Given the description of an element on the screen output the (x, y) to click on. 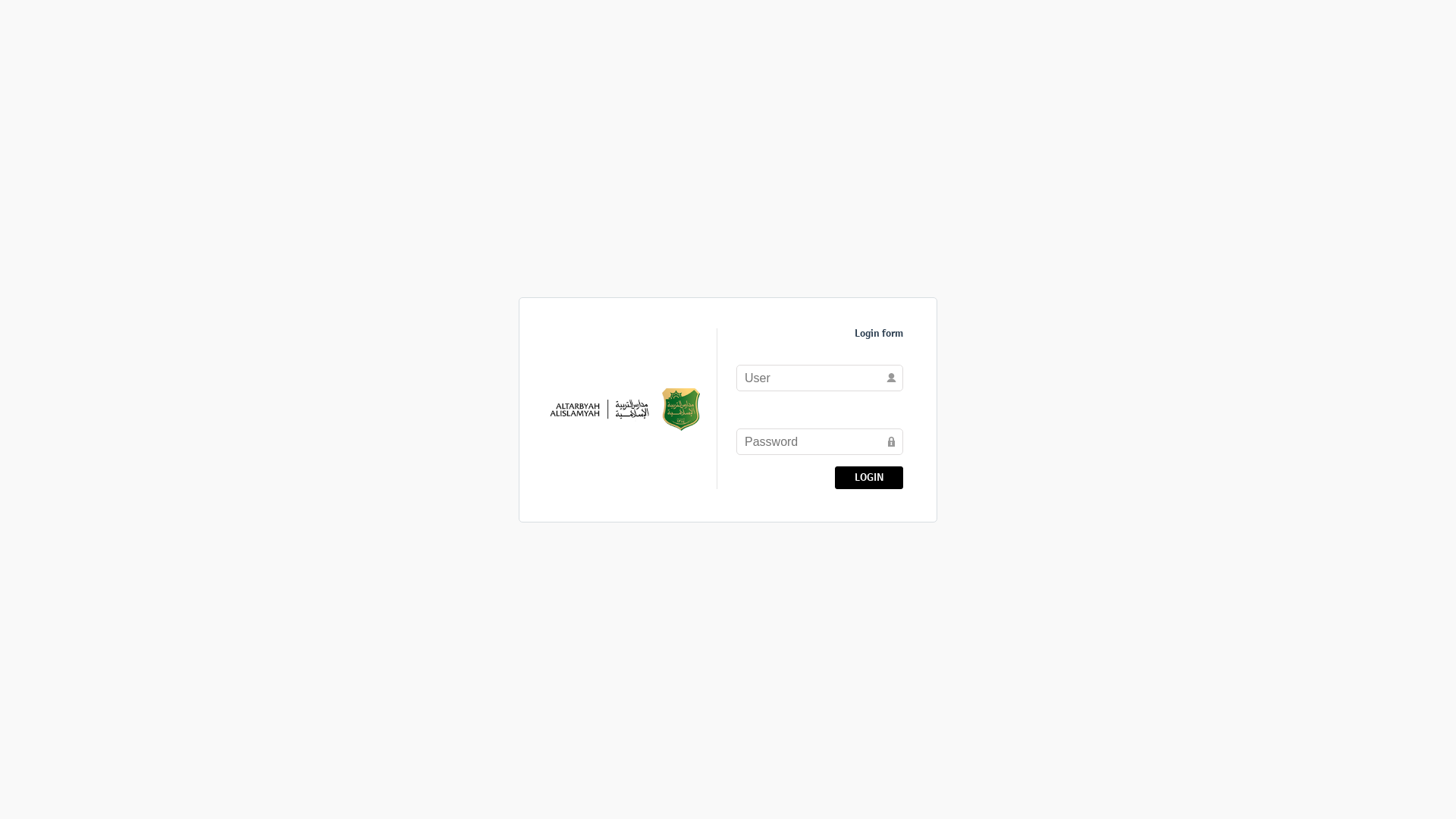
Password Element type: hover (819, 440)
Username Element type: hover (819, 377)
Enter your login (username) Element type: hover (819, 377)
Enter your password Element type: hover (819, 441)
Login Element type: text (868, 476)
